Given the description of an element on the screen output the (x, y) to click on. 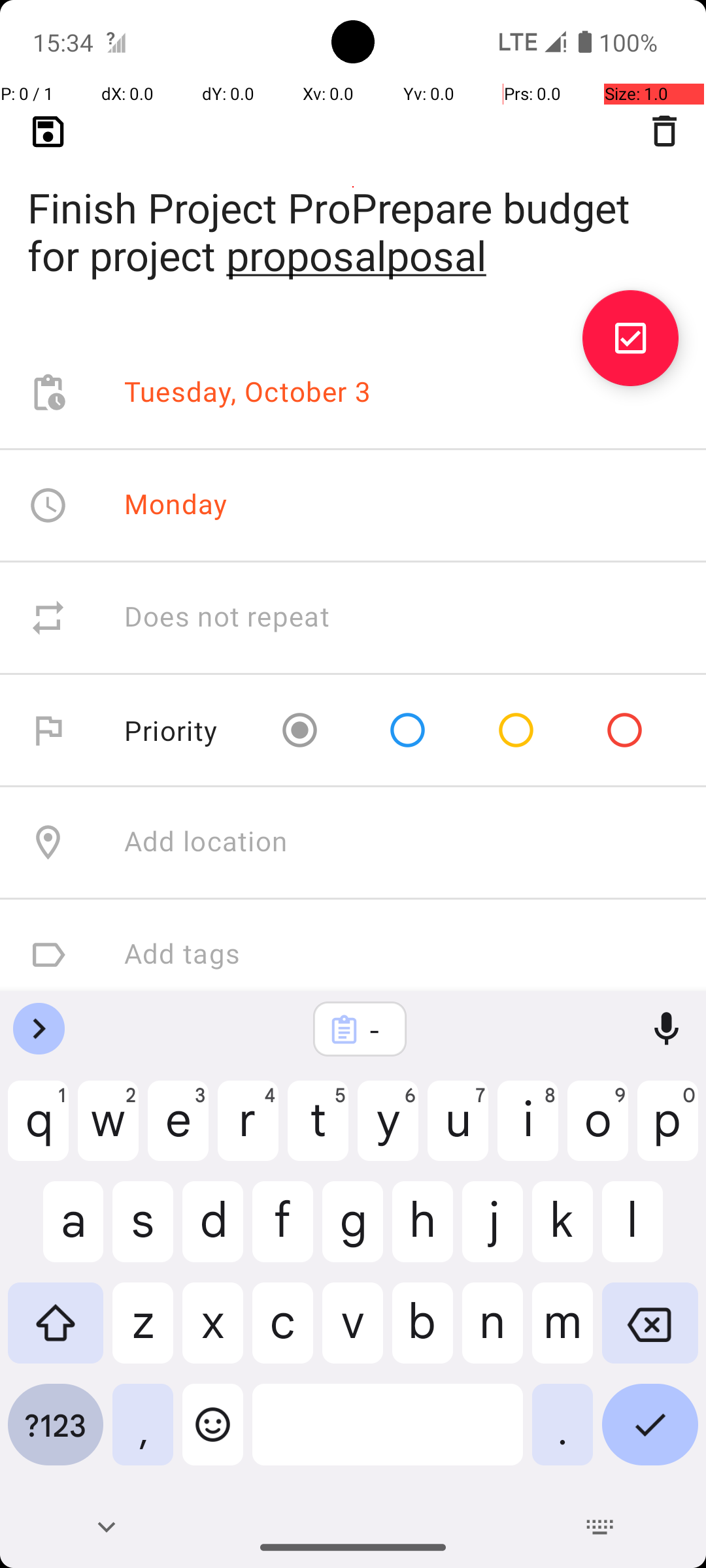
Finish Project ProPrepare budget for project proposalposal Element type: android.widget.EditText (353, 210)
Tuesday, October 3 Element type: android.widget.TextView (247, 392)
